Given the description of an element on the screen output the (x, y) to click on. 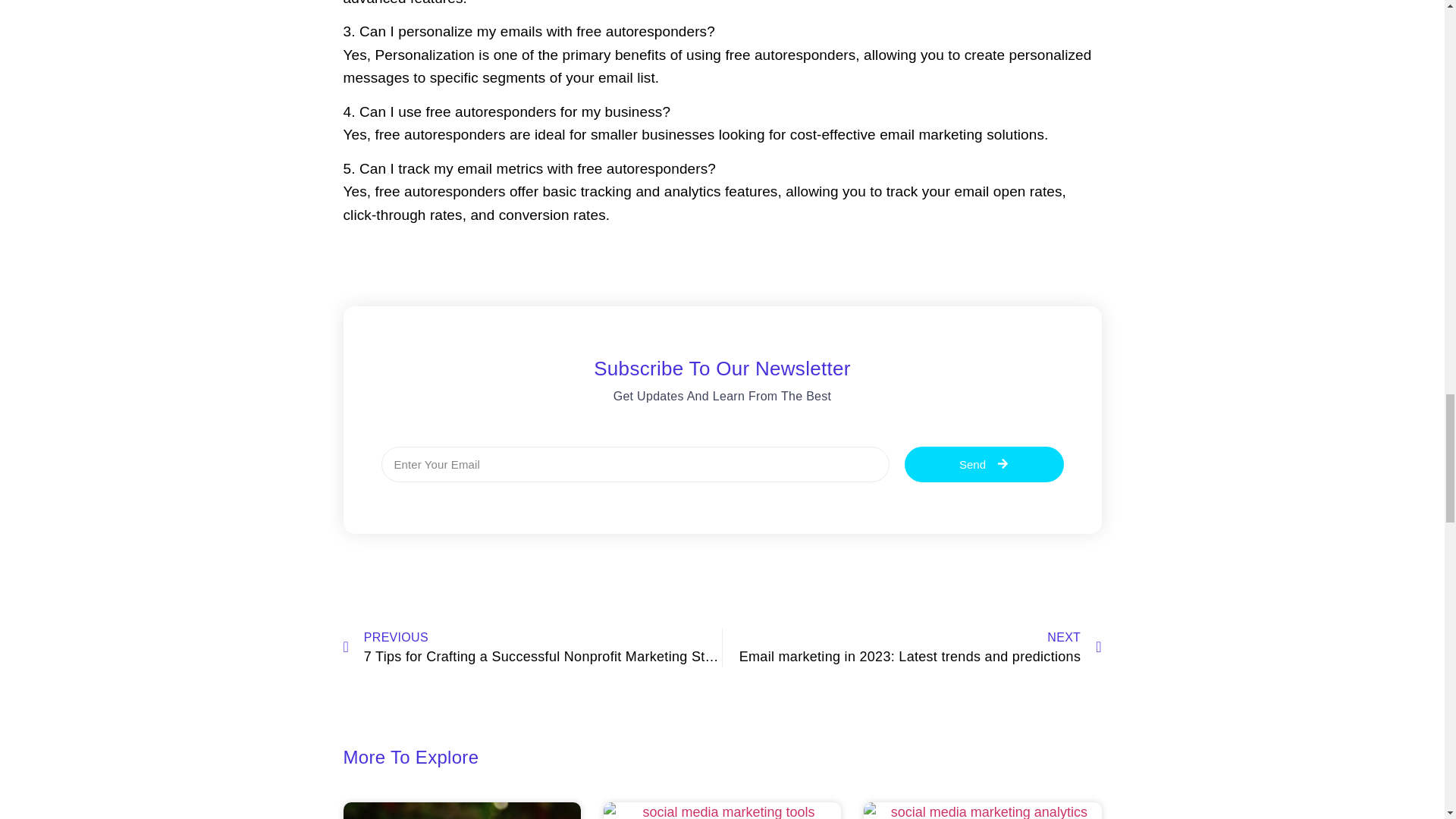
Send (983, 464)
